Given the description of an element on the screen output the (x, y) to click on. 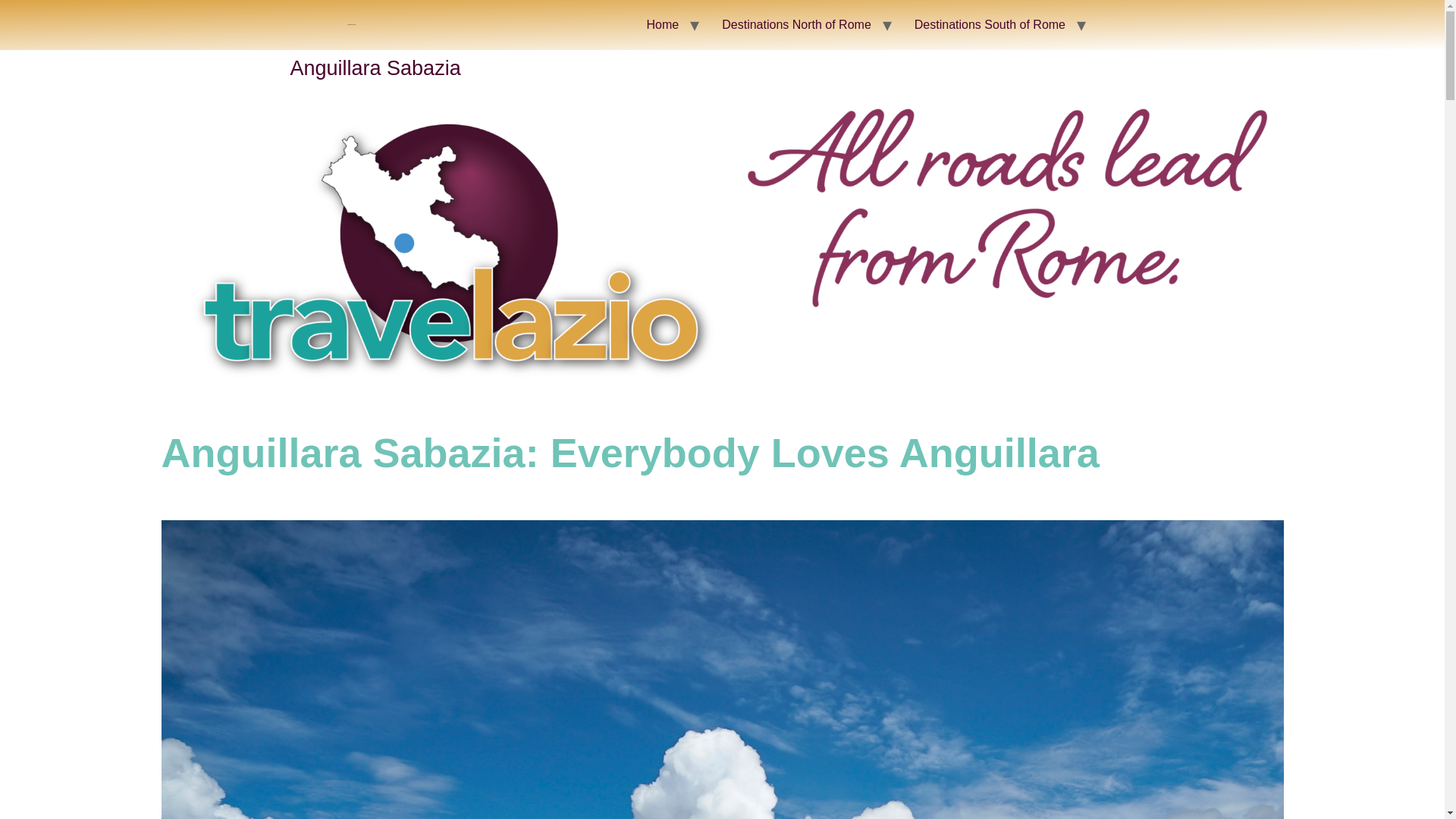
Home (662, 24)
Destinations North of Rome (796, 24)
Destinations South of Rome (989, 24)
